Given the description of an element on the screen output the (x, y) to click on. 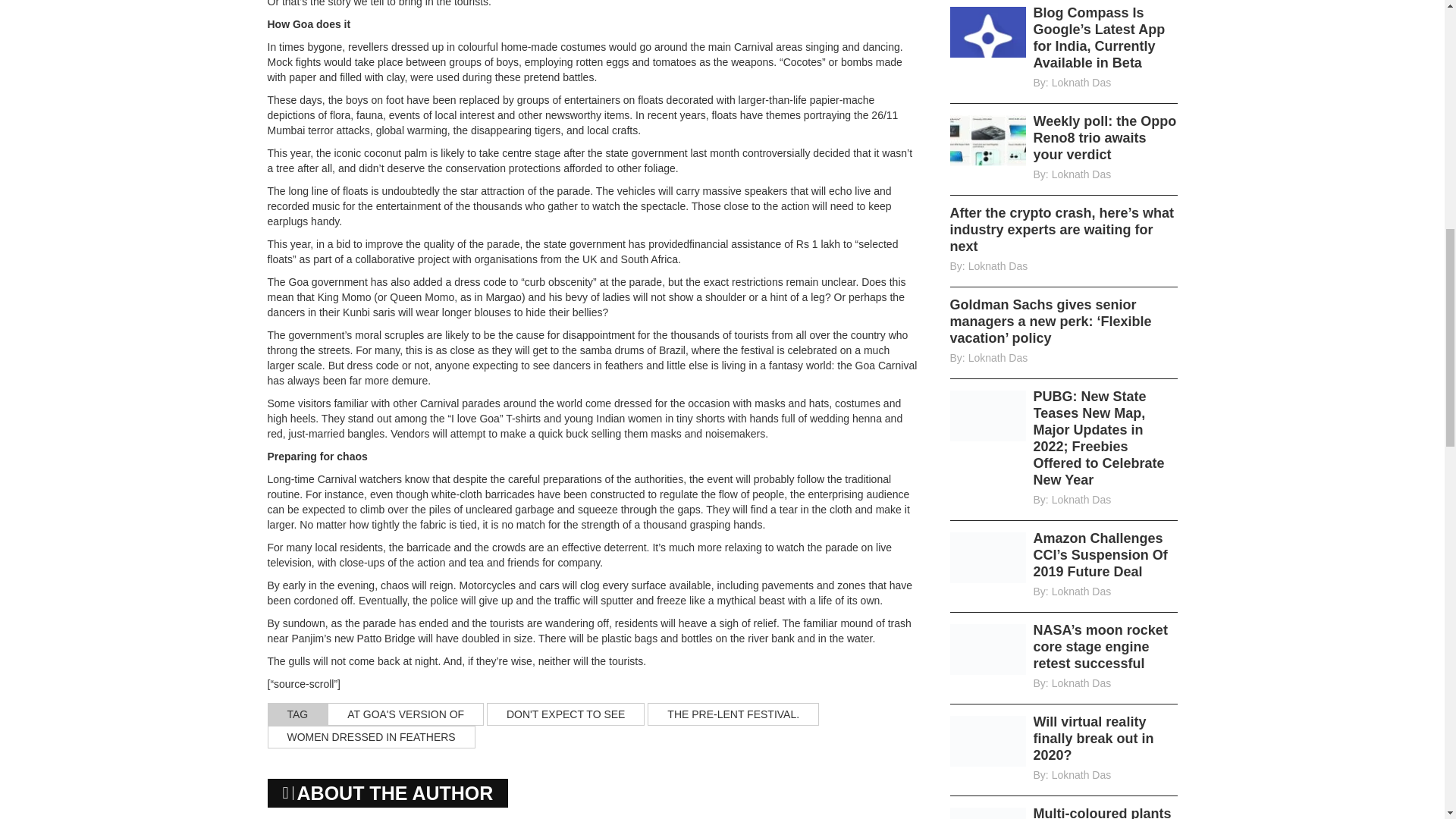
Posts by Loknath Das (1081, 82)
Posts by Loknath Das (1081, 174)
Posts by Loknath Das (1081, 591)
Posts by Loknath Das (997, 265)
Posts by Loknath Das (1081, 499)
AT GOA'S VERSION OF (405, 713)
DON'T EXPECT TO SEE (565, 713)
Posts by Loknath Das (997, 357)
WOMEN DRESSED IN FEATHERS (370, 736)
THE PRE-LENT FESTIVAL. (732, 713)
